Given the description of an element on the screen output the (x, y) to click on. 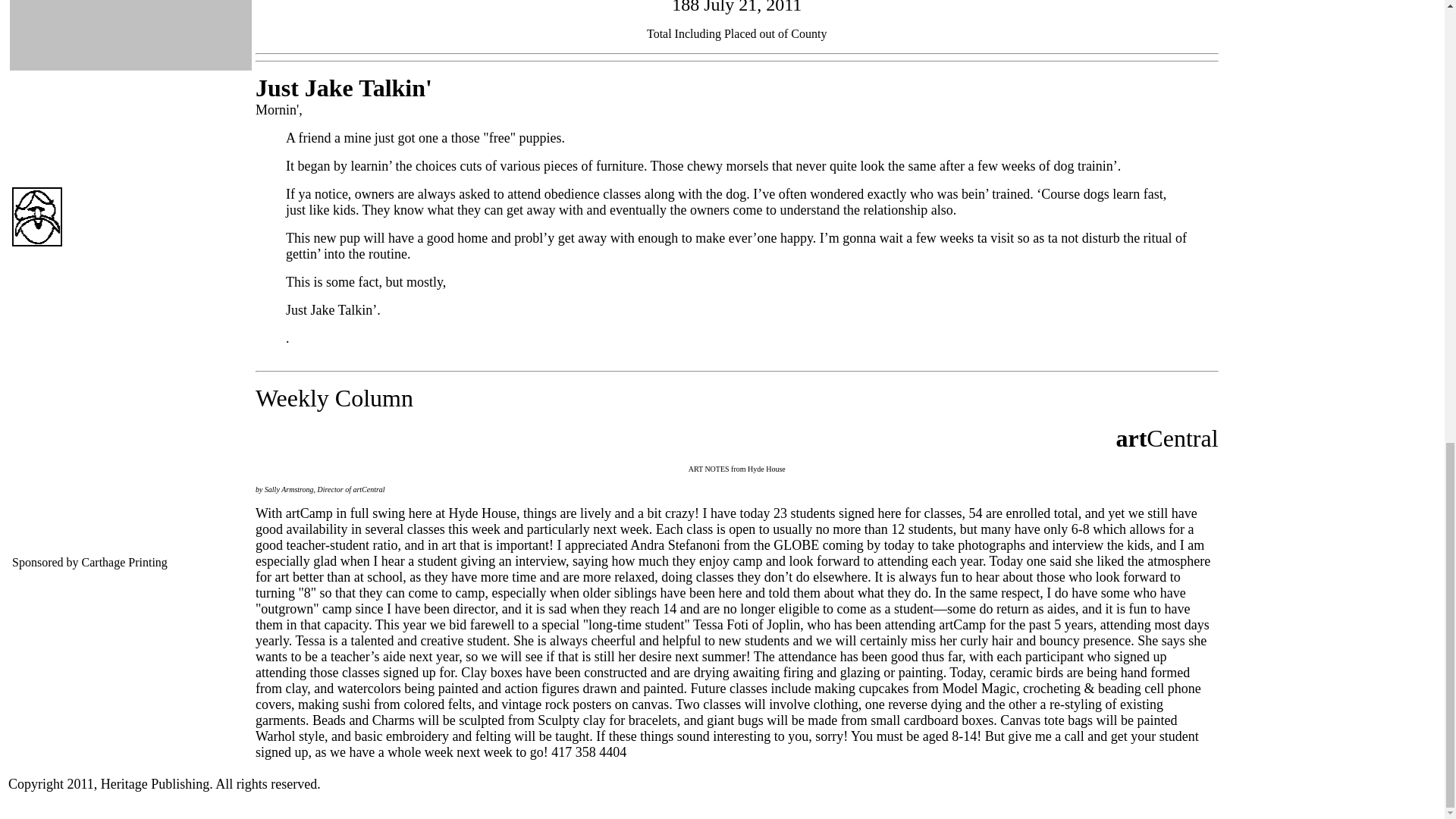
ke Talkin (377, 91)
Weekly C (303, 401)
